Given the description of an element on the screen output the (x, y) to click on. 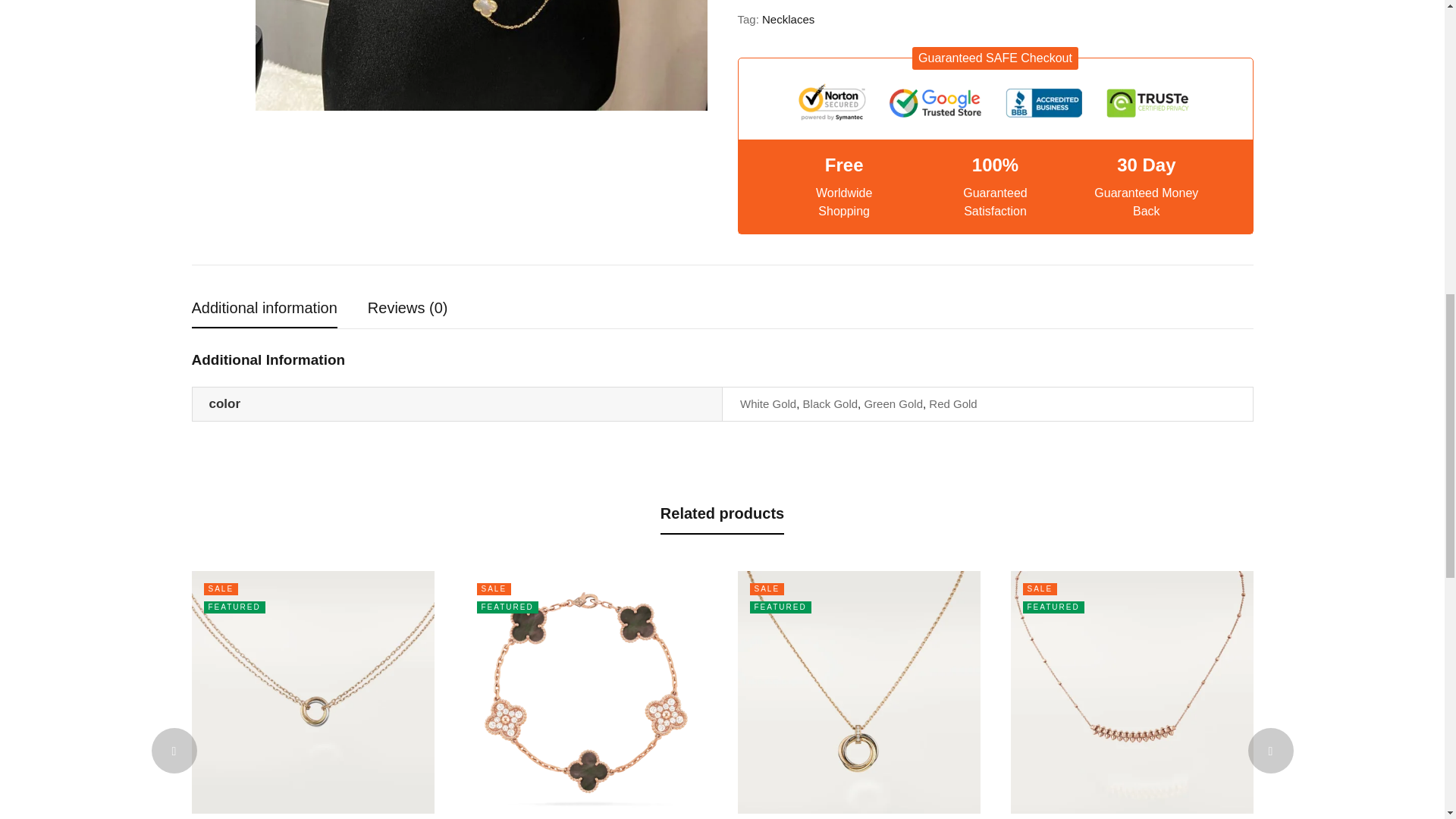
TRINITY NECKLACE (311, 692)
